Given the description of an element on the screen output the (x, y) to click on. 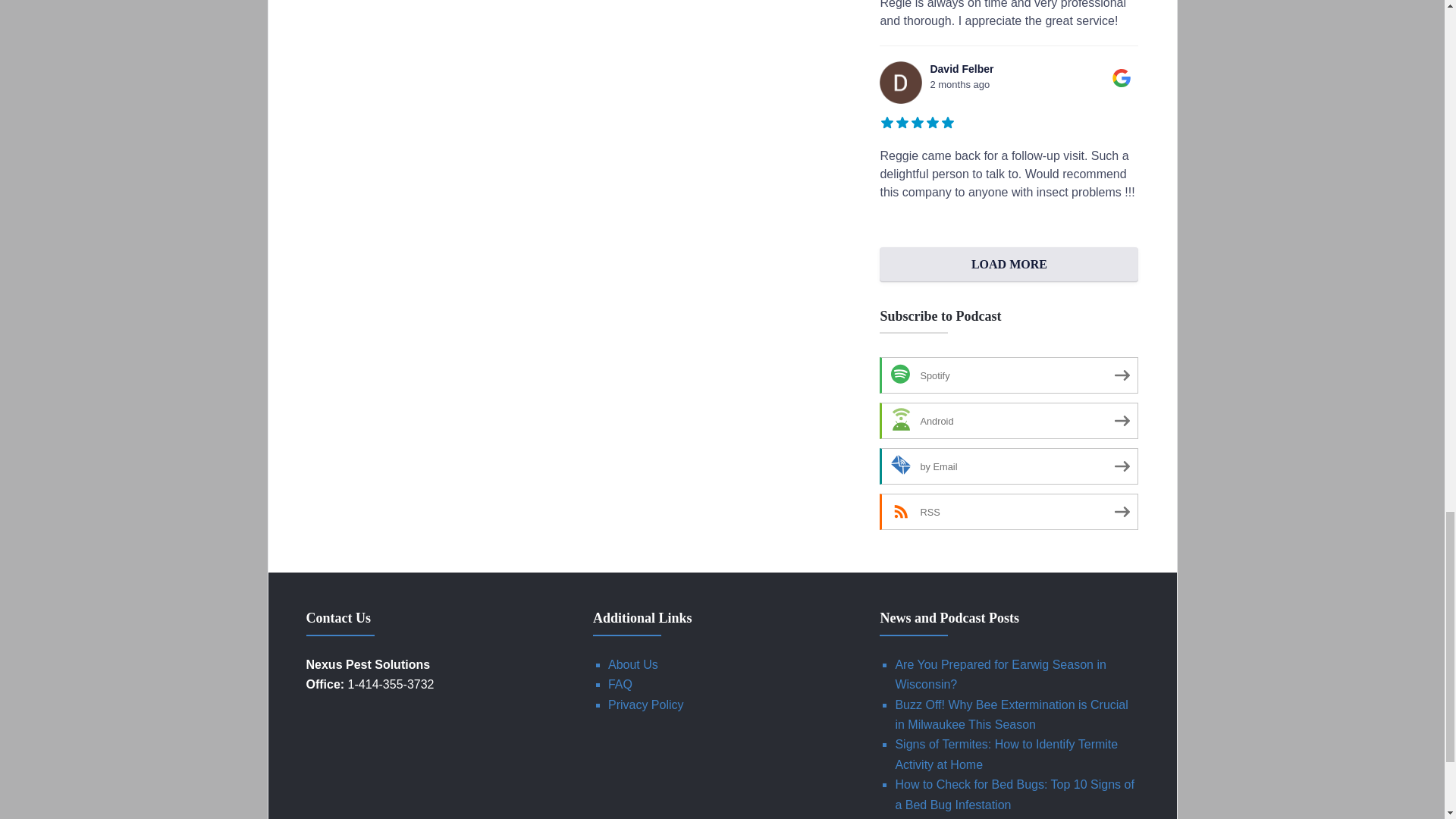
Spotify (1008, 375)
Subscribe by Email (1008, 465)
Android (1008, 420)
David Felber (900, 82)
Subscribe on Android (1008, 420)
Subscribe via RSS (1008, 511)
by Email (1008, 465)
Subscribe on Spotify (1008, 375)
LOAD MORE (1008, 264)
